Given the description of an element on the screen output the (x, y) to click on. 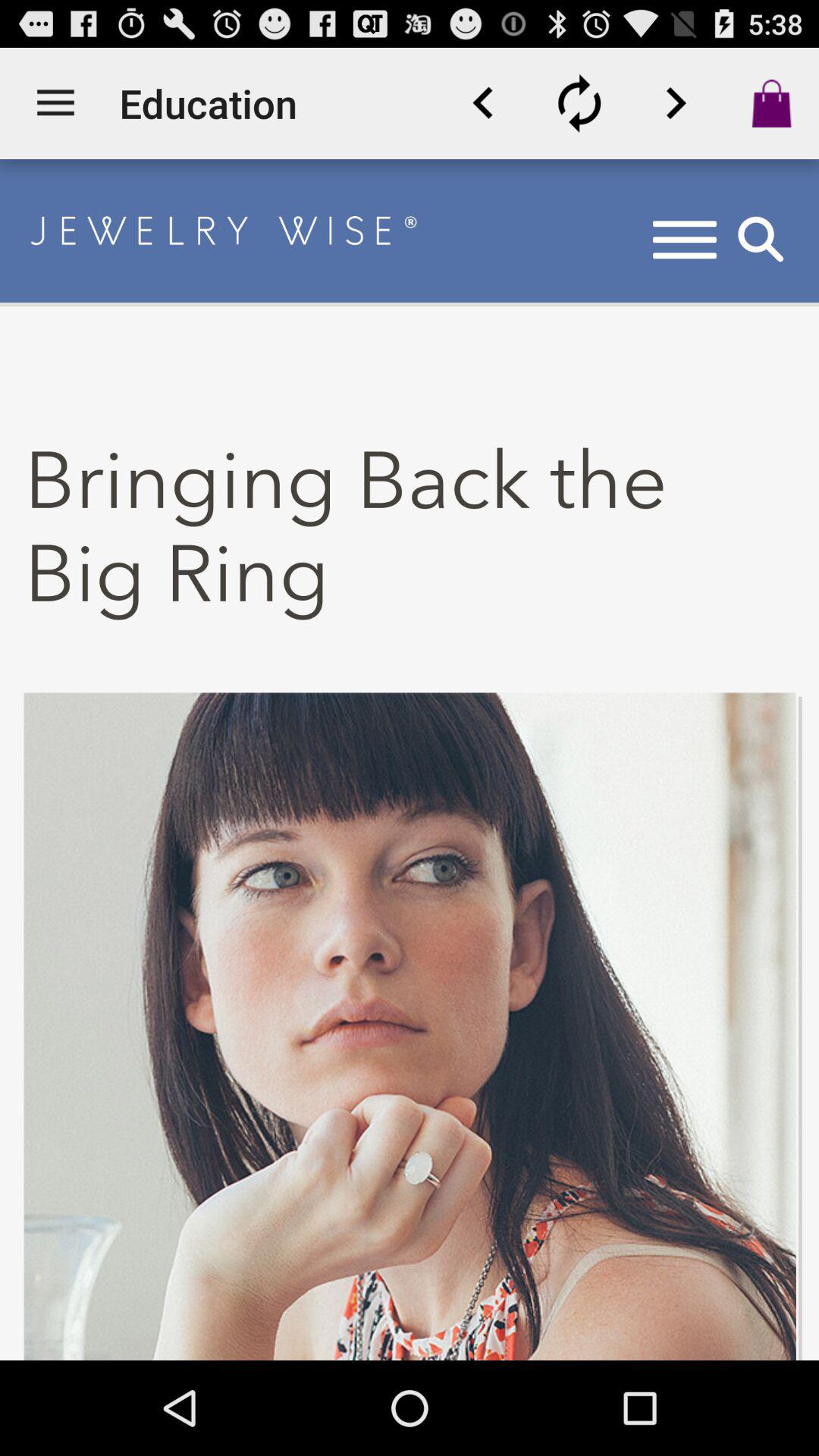
move forward (675, 103)
